Given the description of an element on the screen output the (x, y) to click on. 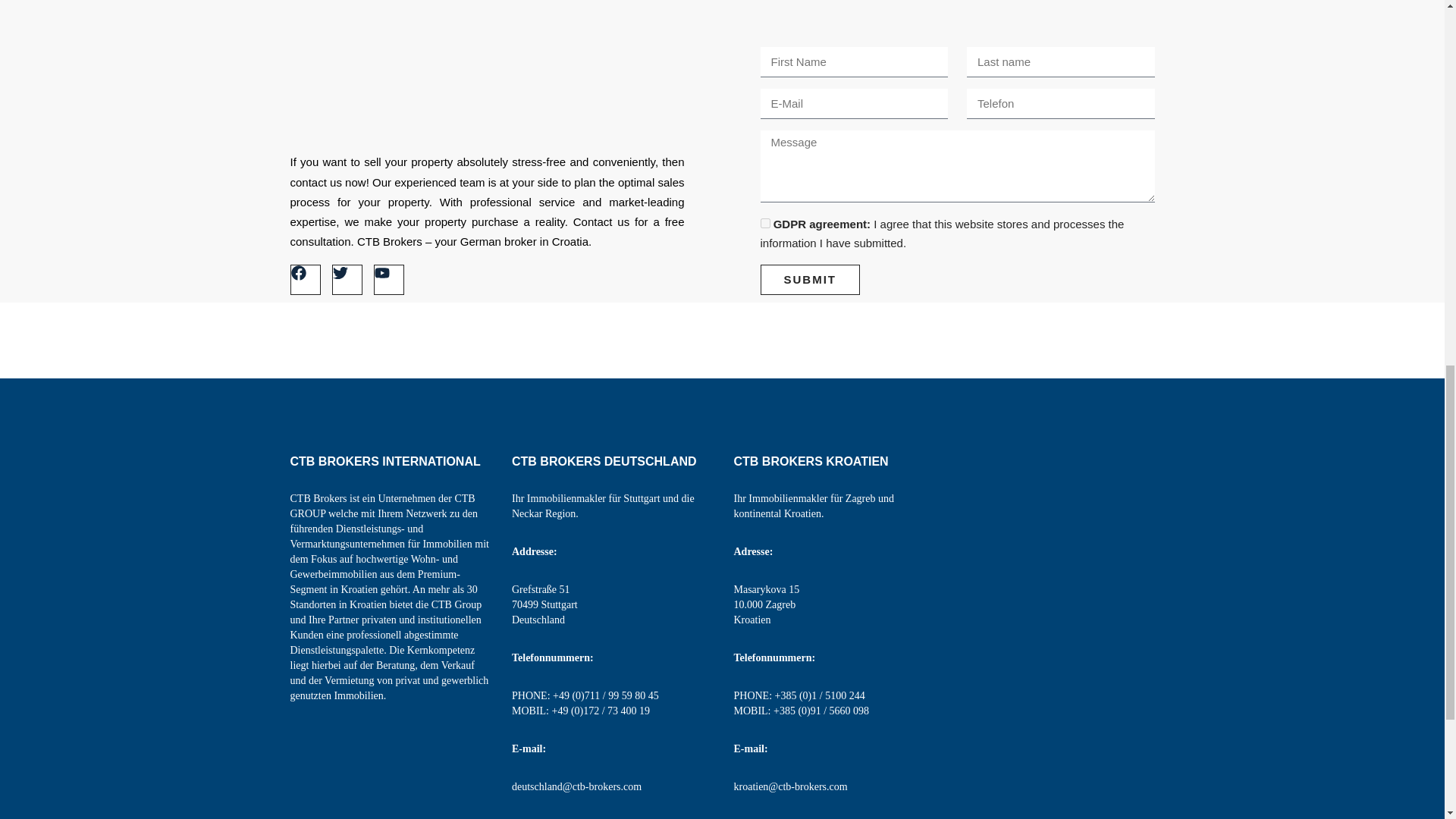
on (765, 223)
